Given the description of an element on the screen output the (x, y) to click on. 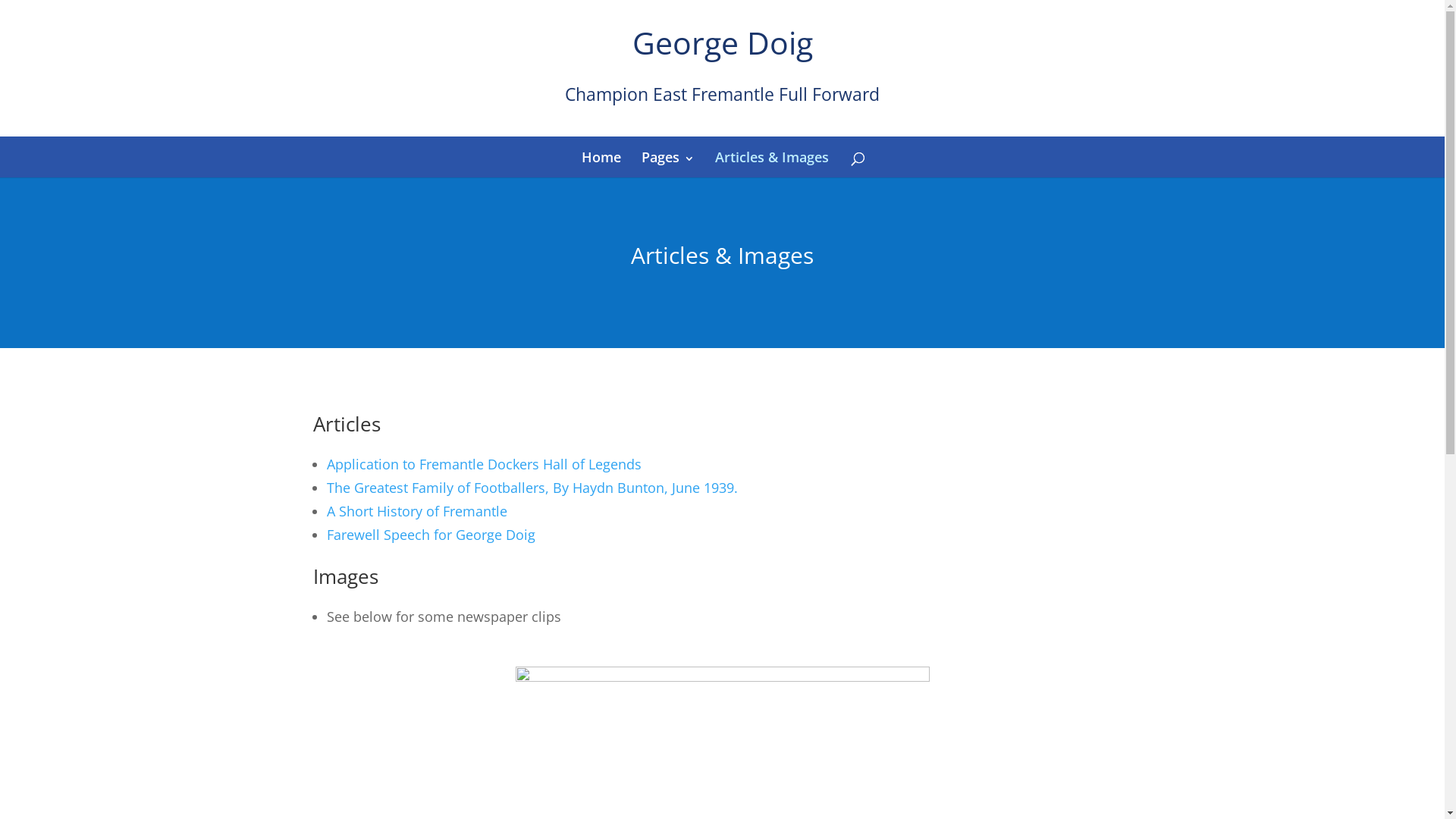
Articles & Images Element type: text (771, 156)
A Short History of Fremantle Element type: text (416, 511)
Farewell Speech for George Doig Element type: text (430, 534)
Pages Element type: text (667, 156)
Home Element type: text (601, 156)
Application to Fremantle Dockers Hall of Legends Element type: text (483, 464)
George Doig Element type: text (722, 42)
